Given the description of an element on the screen output the (x, y) to click on. 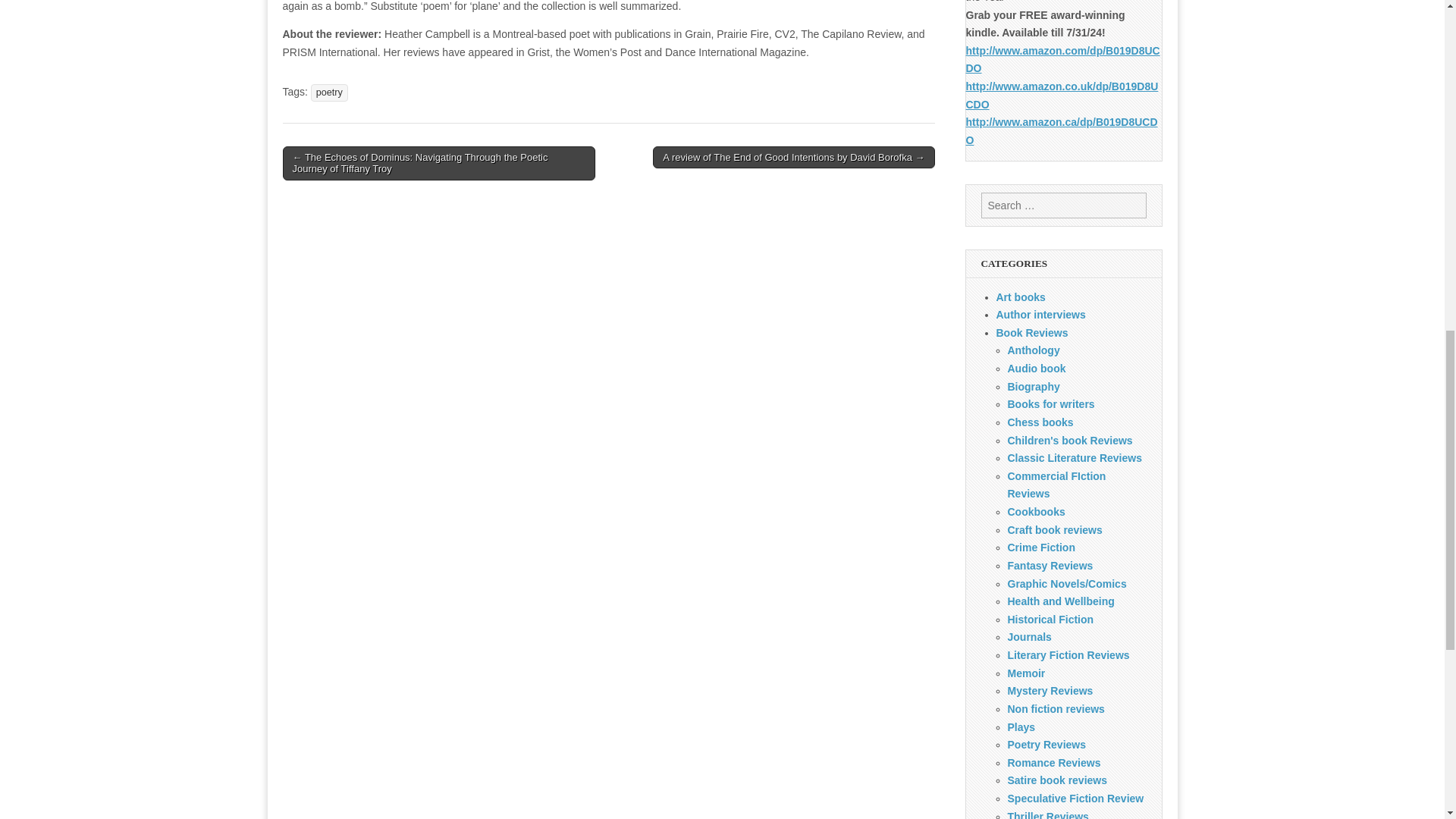
Fantasy Reviews (1050, 565)
Historical Fiction (1050, 619)
Classic Literature Reviews (1074, 458)
Cookbooks (1035, 511)
Health and Wellbeing (1060, 601)
Book Reviews (1031, 332)
Books for writers (1050, 404)
poetry (329, 92)
Author interviews (1040, 314)
Commercial FIction Reviews (1056, 485)
Children's book Reviews (1069, 440)
Craft book reviews (1054, 530)
Chess books (1040, 422)
Anthology (1033, 349)
Audio book (1036, 368)
